Given the description of an element on the screen output the (x, y) to click on. 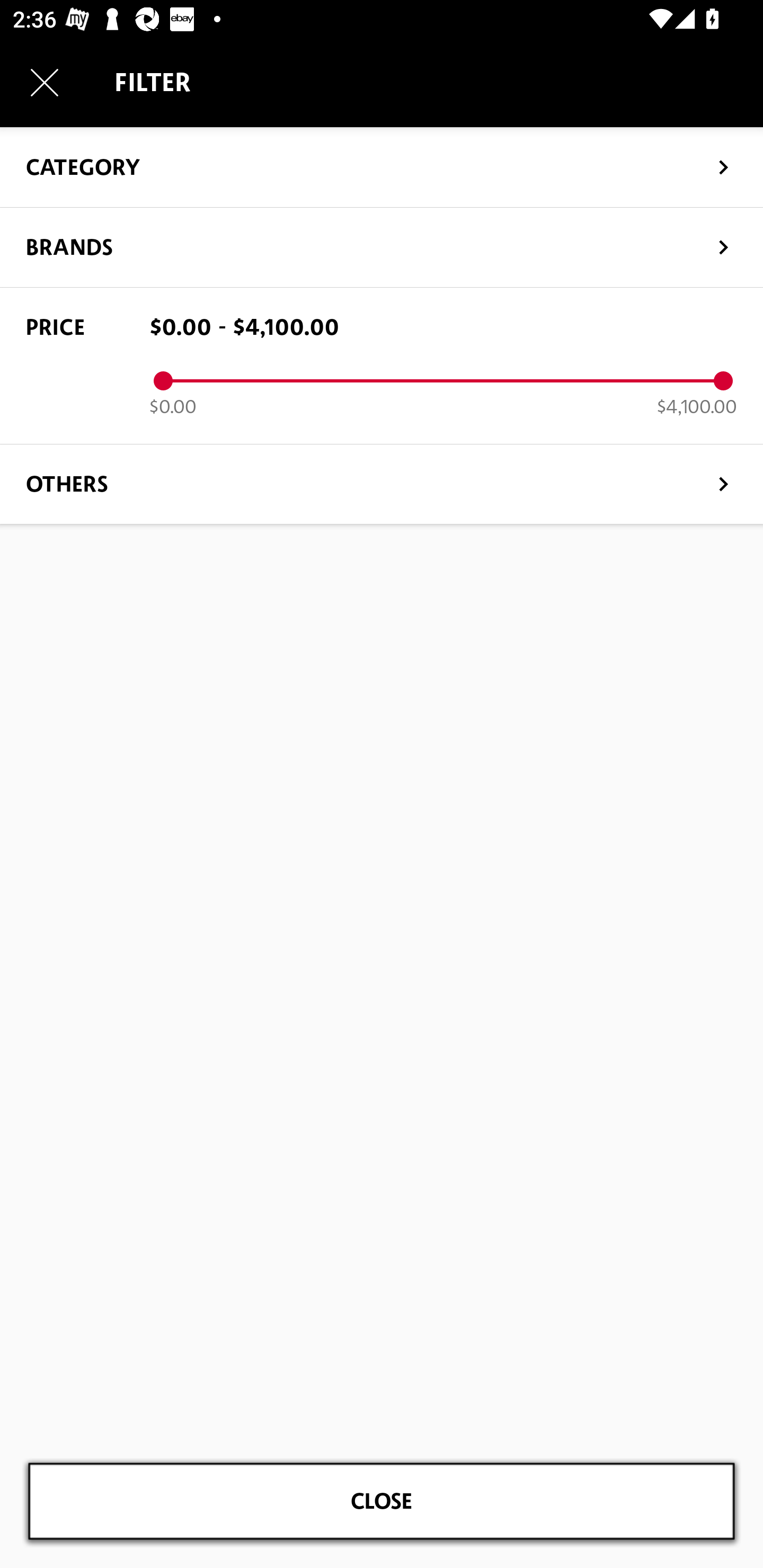
Navigate up (44, 82)
CATEGORY (381, 166)
BRANDS (381, 246)
OTHERS (381, 483)
CLOSE (381, 1501)
